Given the description of an element on the screen output the (x, y) to click on. 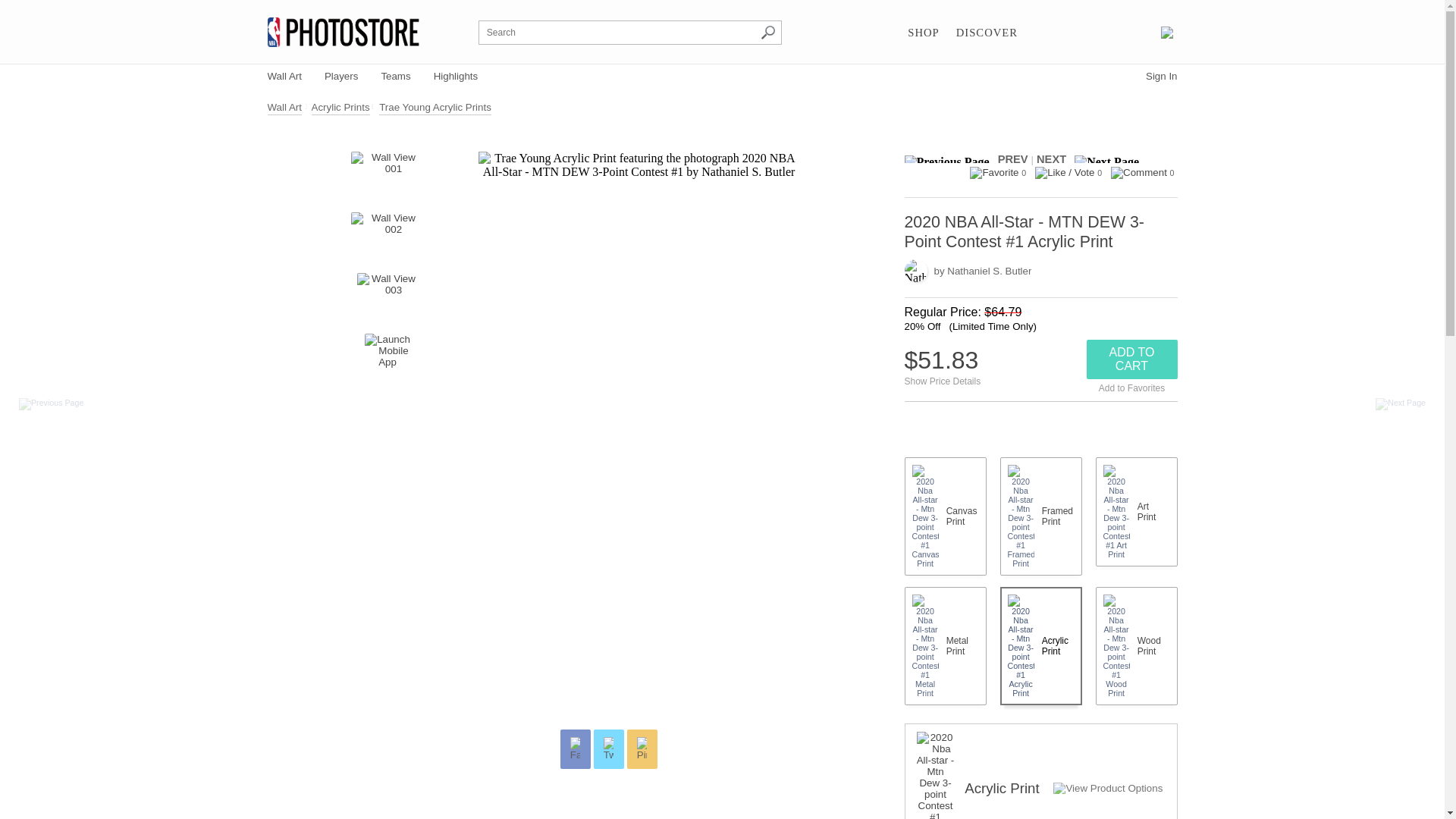
NBA Photo Store (342, 31)
Search (767, 32)
Wall View 003 (386, 295)
Comment (1138, 173)
Wall View 001 (386, 174)
Favorite (993, 173)
SHOP (922, 32)
Wall View 002 (386, 234)
DISCOVER (987, 32)
Launch Mobile App (387, 356)
